Given the description of an element on the screen output the (x, y) to click on. 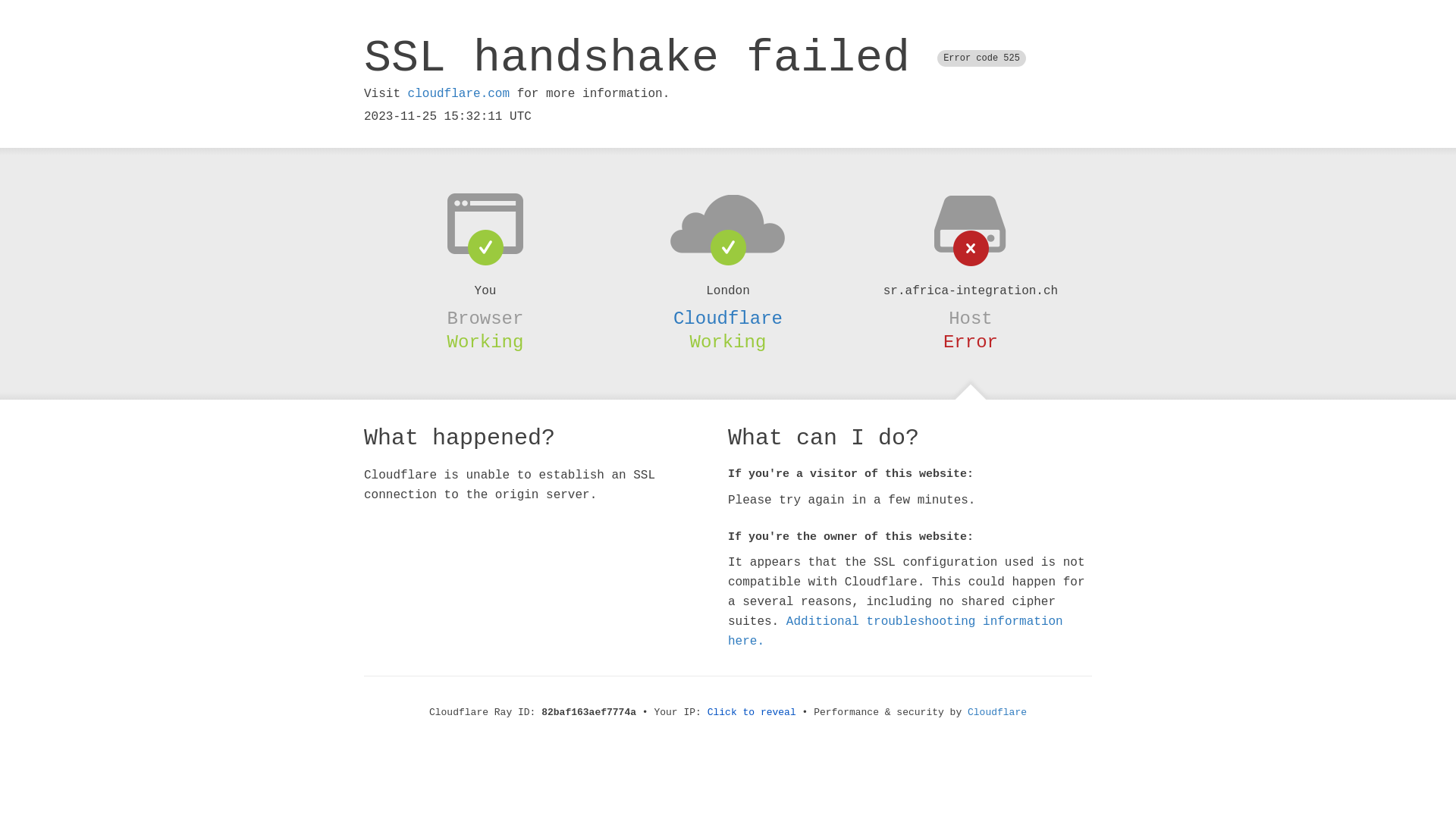
cloudflare.com Element type: text (458, 93)
Cloudflare Element type: text (996, 712)
Additional troubleshooting information here. Element type: text (895, 631)
Click to reveal Element type: text (751, 712)
Cloudflare Element type: text (727, 318)
